Given the description of an element on the screen output the (x, y) to click on. 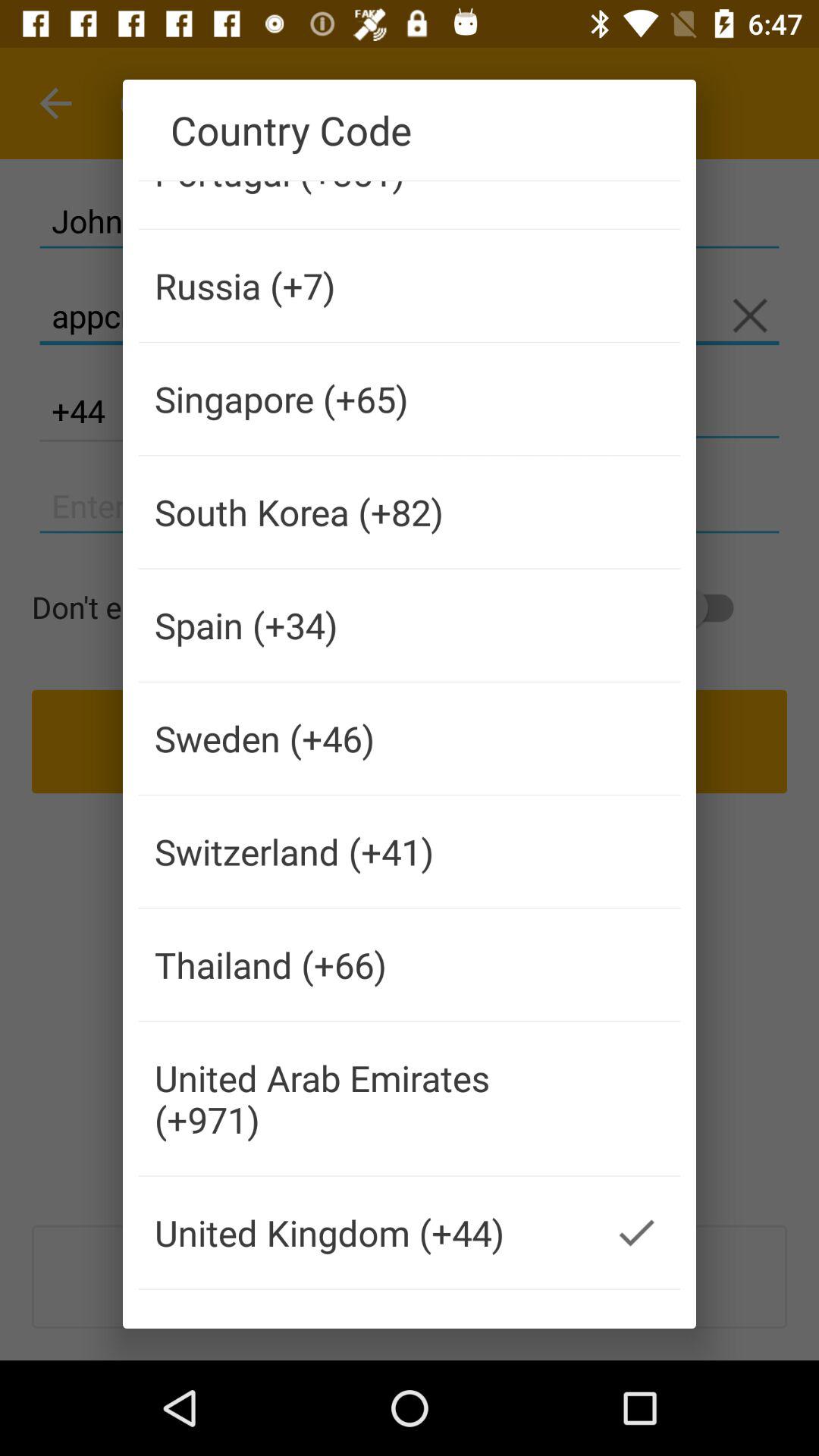
launch icon above spain (+34) item (365, 512)
